Given the description of an element on the screen output the (x, y) to click on. 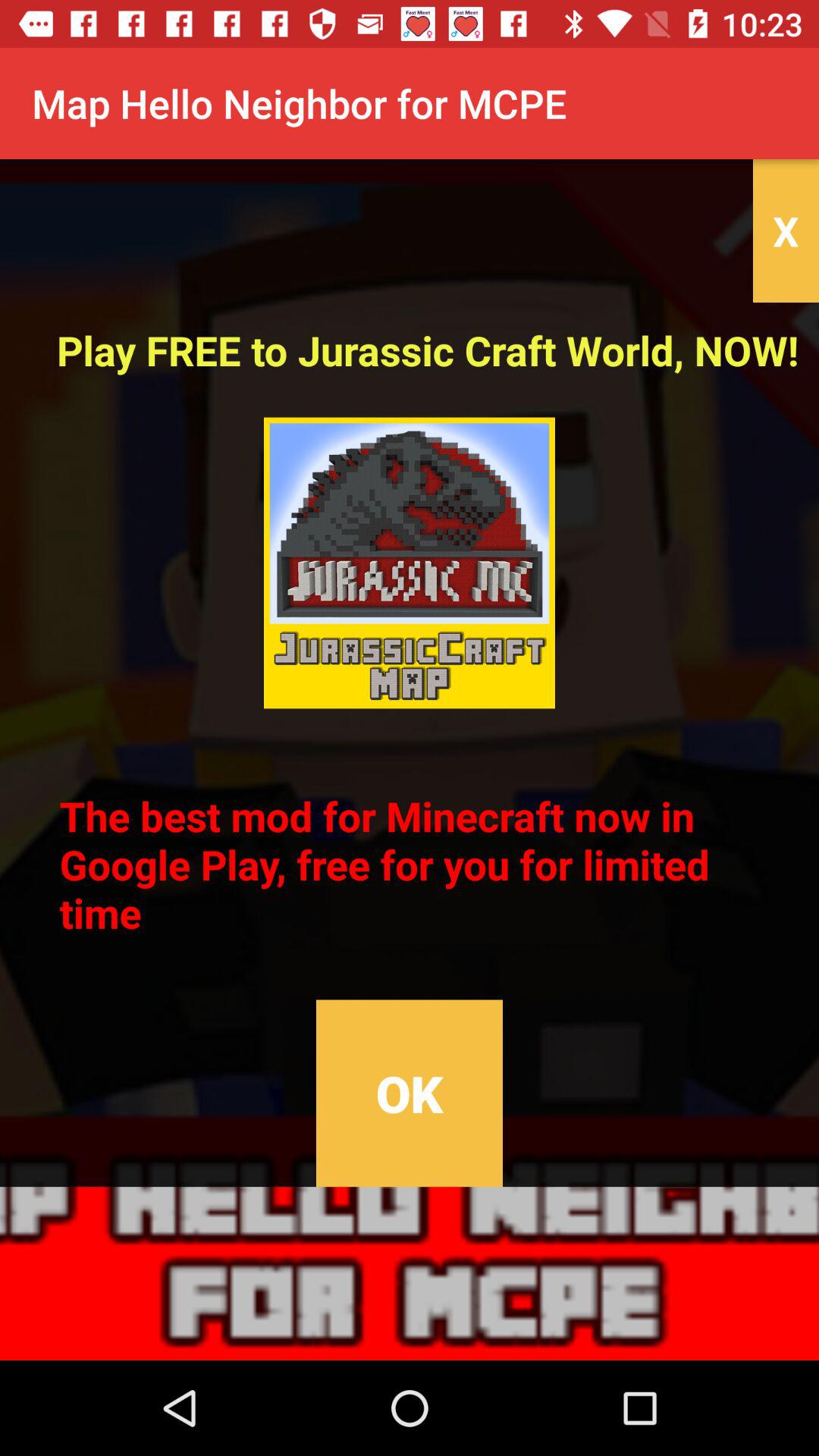
swipe to ok (409, 1092)
